Given the description of an element on the screen output the (x, y) to click on. 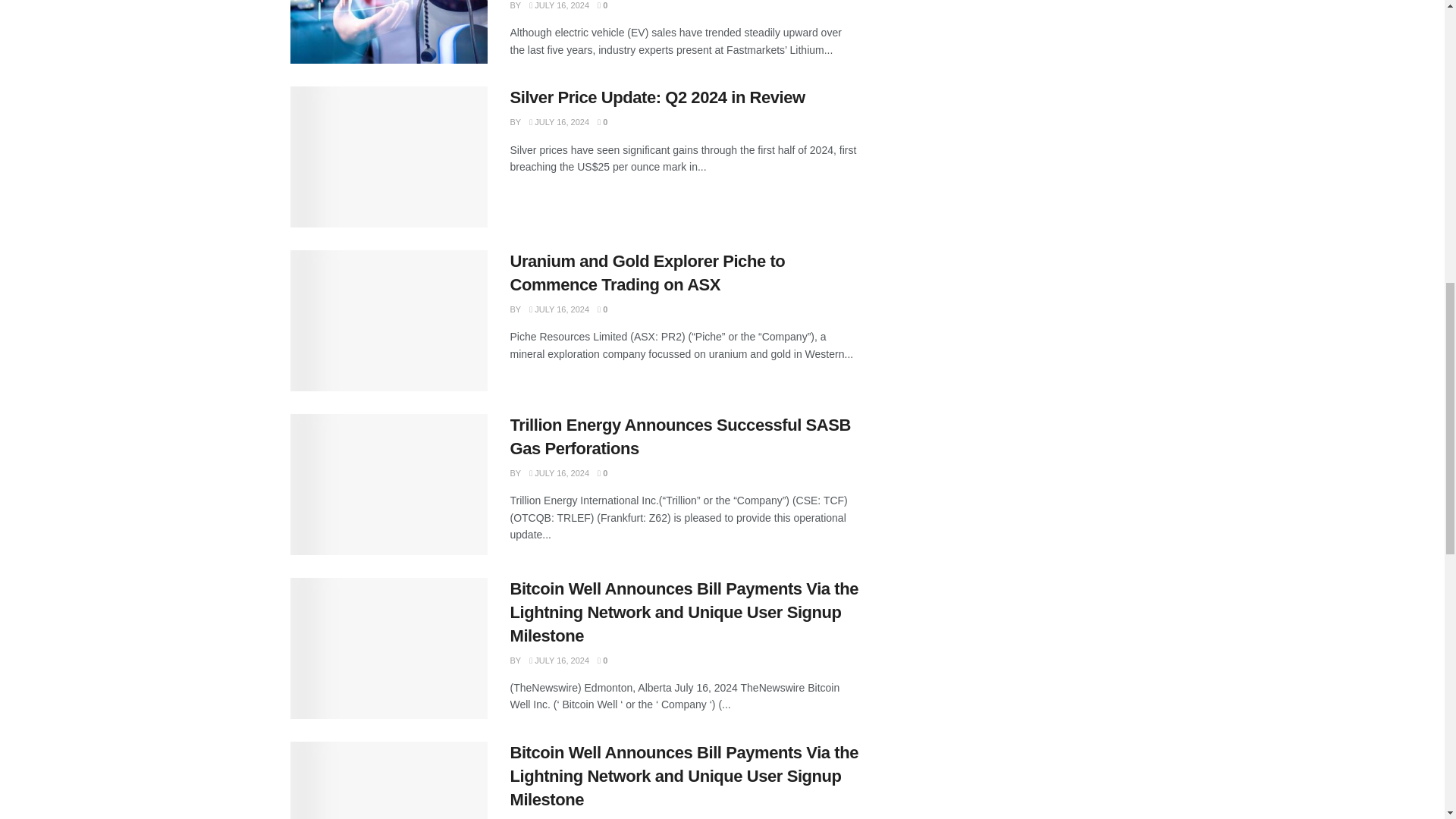
0 (601, 4)
JULY 16, 2024 (559, 4)
